Given the description of an element on the screen output the (x, y) to click on. 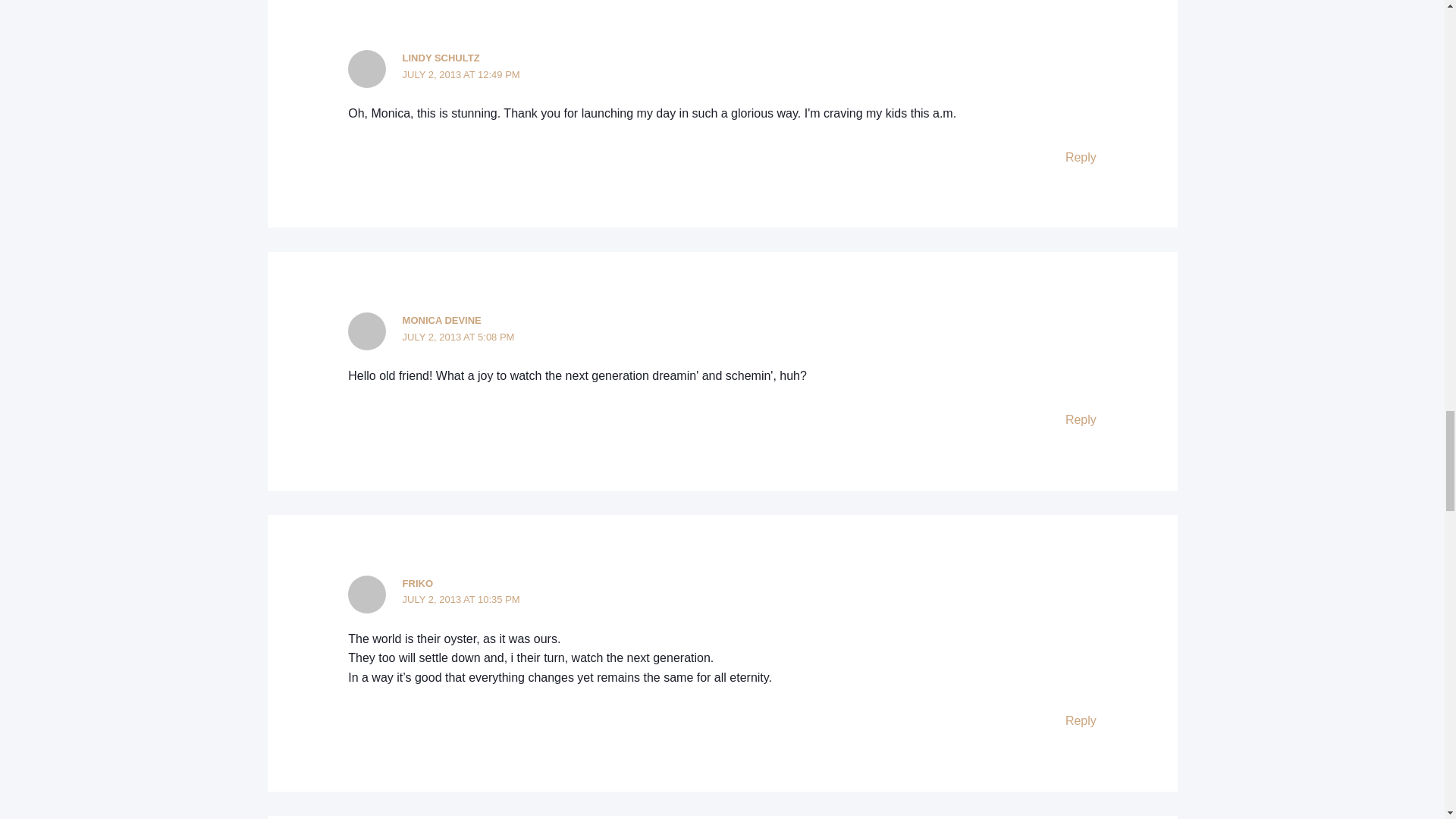
LINDY SCHULTZ (441, 57)
Reply (1080, 156)
JULY 2, 2013 AT 12:49 PM (461, 74)
MONICA DEVINE (442, 319)
